Given the description of an element on the screen output the (x, y) to click on. 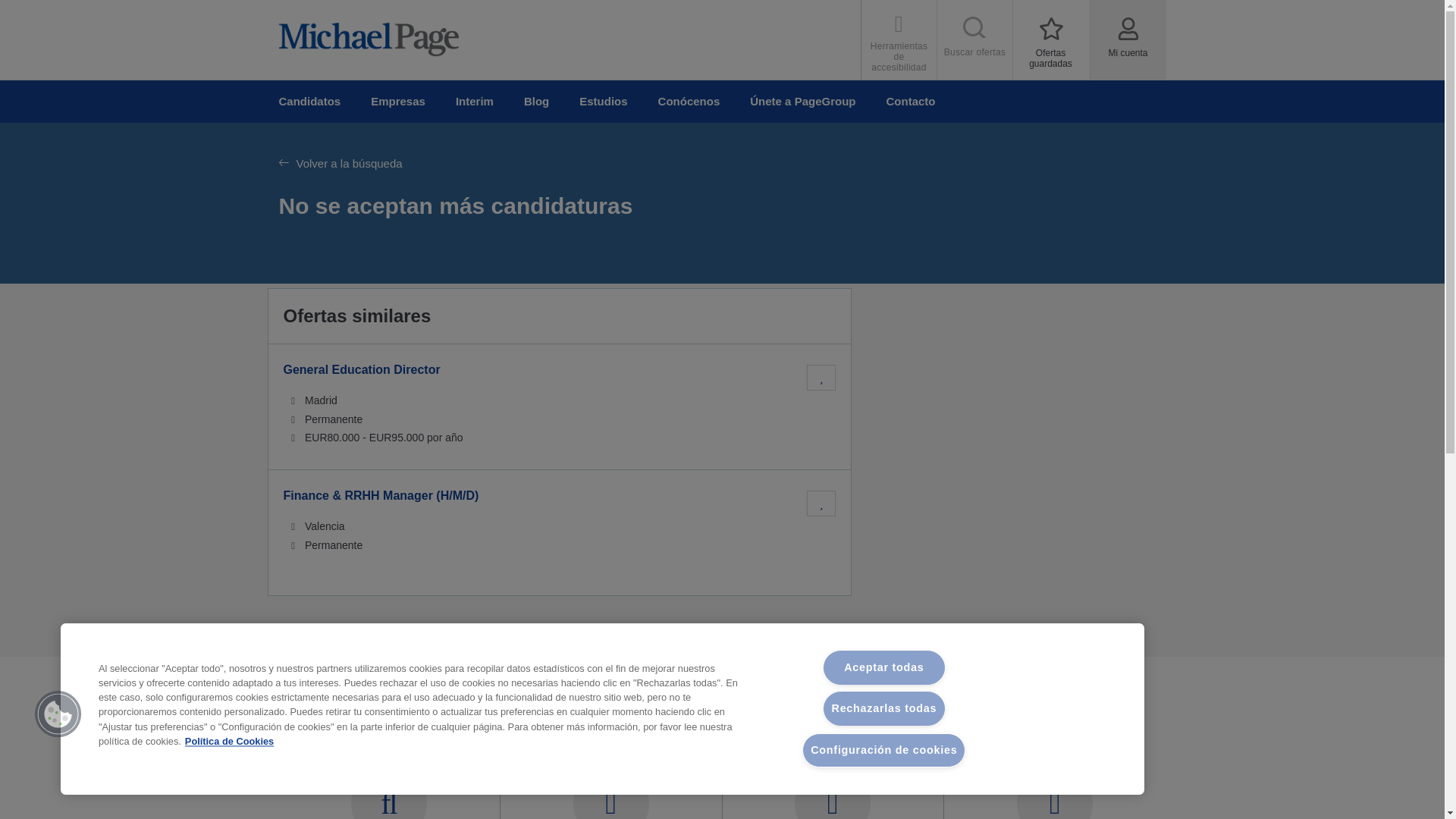
Cookies Button (57, 714)
Herramientas de accesibilidad (899, 40)
Empresas (398, 101)
Candidatos (1051, 40)
Buscar ofertas (309, 101)
Mi cuenta (975, 40)
